Given the description of an element on the screen output the (x, y) to click on. 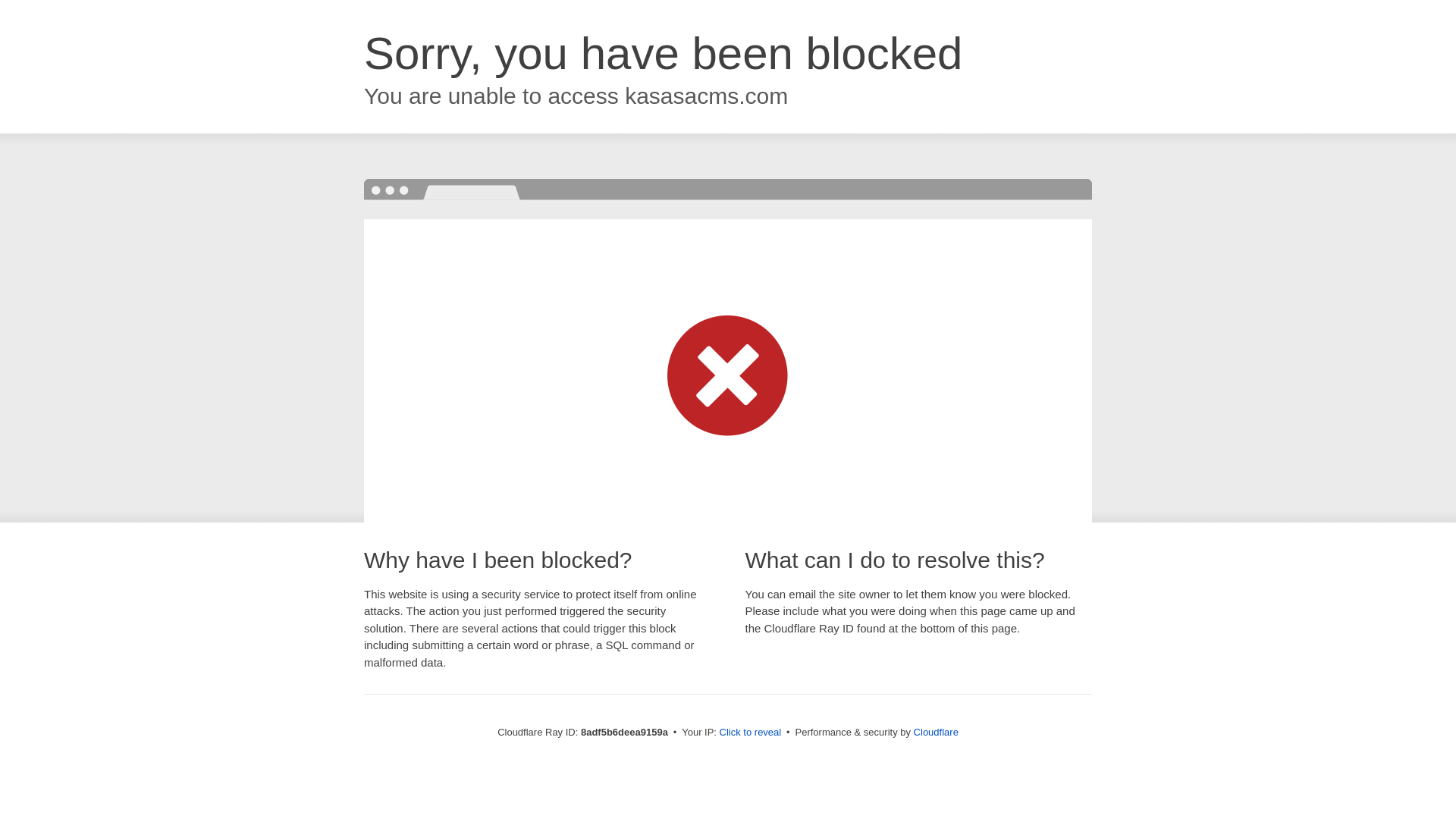
Click to reveal (750, 732)
Cloudflare (936, 731)
